Given the description of an element on the screen output the (x, y) to click on. 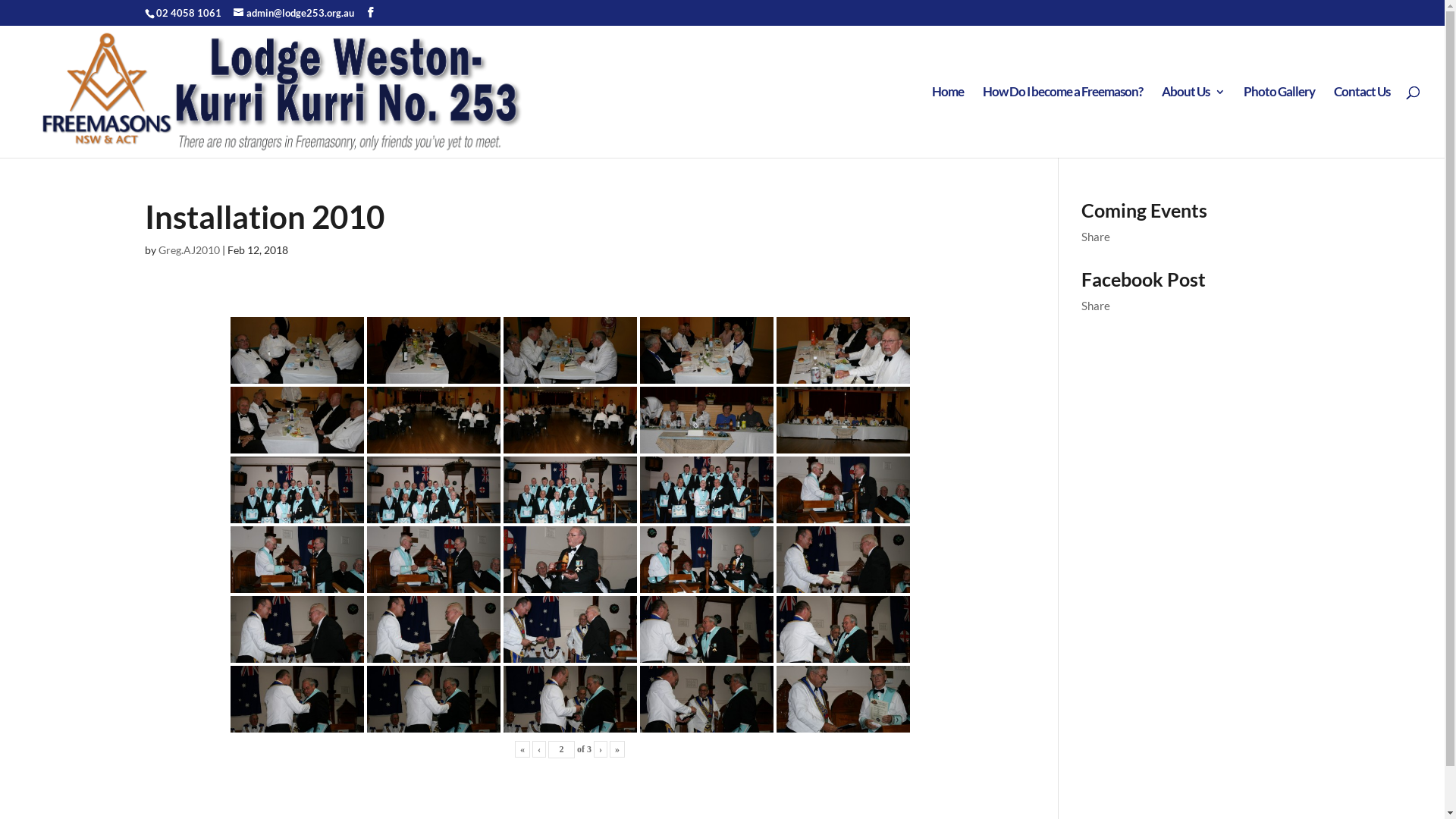
About Us Element type: text (1192, 121)
How Do I become a Freemason? Element type: text (1062, 121)
IMG_5085 (Medium) Element type: hover (843, 349)
IMG_5060 (Medium) Element type: hover (843, 698)
Greg.AJ2010 Element type: text (188, 249)
IMG_5080 (Medium) Element type: hover (843, 419)
IMG_5081 (Medium) Element type: hover (706, 419)
IMG_5071 (Medium) Element type: hover (706, 558)
IMG_5084 (Medium) Element type: hover (297, 419)
IMG_5079 (Medium) Element type: hover (297, 488)
IMG_5072 (Medium) Element type: hover (570, 558)
IMG_5074 (Medium) Element type: hover (297, 558)
IMG_5063 (Medium) Element type: hover (433, 698)
IMG_5067 (Medium) Element type: hover (570, 628)
IMG_5076 (Medium) Element type: hover (706, 488)
IMG_5075 (Medium) Element type: hover (843, 488)
Home Element type: text (947, 121)
IMG_5087 (Medium) Element type: hover (570, 349)
admin@lodge253.org.au Element type: text (293, 12)
IMG_5068 (Medium) Element type: hover (433, 628)
IMG_5086 (Medium) Element type: hover (706, 349)
IMG_5083 (Medium) Element type: hover (433, 419)
IMG_5078 (Medium) Element type: hover (433, 488)
Share Element type: text (1095, 236)
IMG_5070 (Medium) Element type: hover (843, 558)
IMG_5077 (Medium) Element type: hover (570, 488)
IMG_5064 (Medium) Element type: hover (297, 698)
IMG_5082 (Medium) Element type: hover (570, 419)
IMG_5066 (Medium) Element type: hover (706, 628)
IMG_5065 (Medium) Element type: hover (843, 628)
IMG_5062 (Medium) Element type: hover (570, 698)
IMG_5061 (Medium) Element type: hover (706, 698)
IMG_5073 (Medium) Element type: hover (433, 558)
Share Element type: text (1095, 305)
IMG_5088 (Medium) Element type: hover (433, 349)
Contact Us Element type: text (1361, 121)
IMG_5069 (Medium) Element type: hover (297, 628)
IMG_5089 (Medium) Element type: hover (297, 349)
Photo Gallery Element type: text (1278, 121)
